Given the description of an element on the screen output the (x, y) to click on. 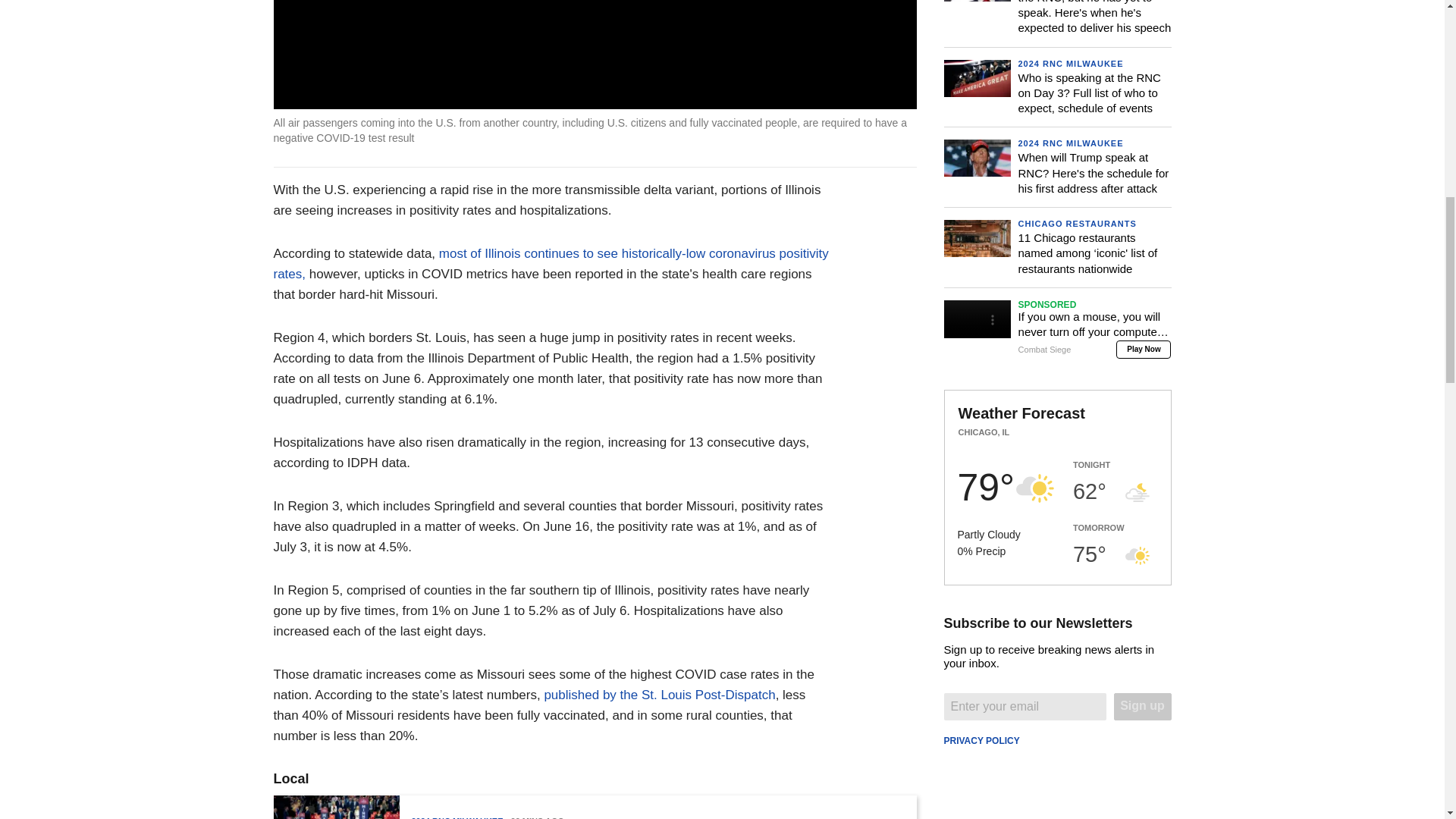
2024 RNC MILWAUKEE (456, 817)
published by the St. Louis Post-Dispatch (658, 694)
